Given the description of an element on the screen output the (x, y) to click on. 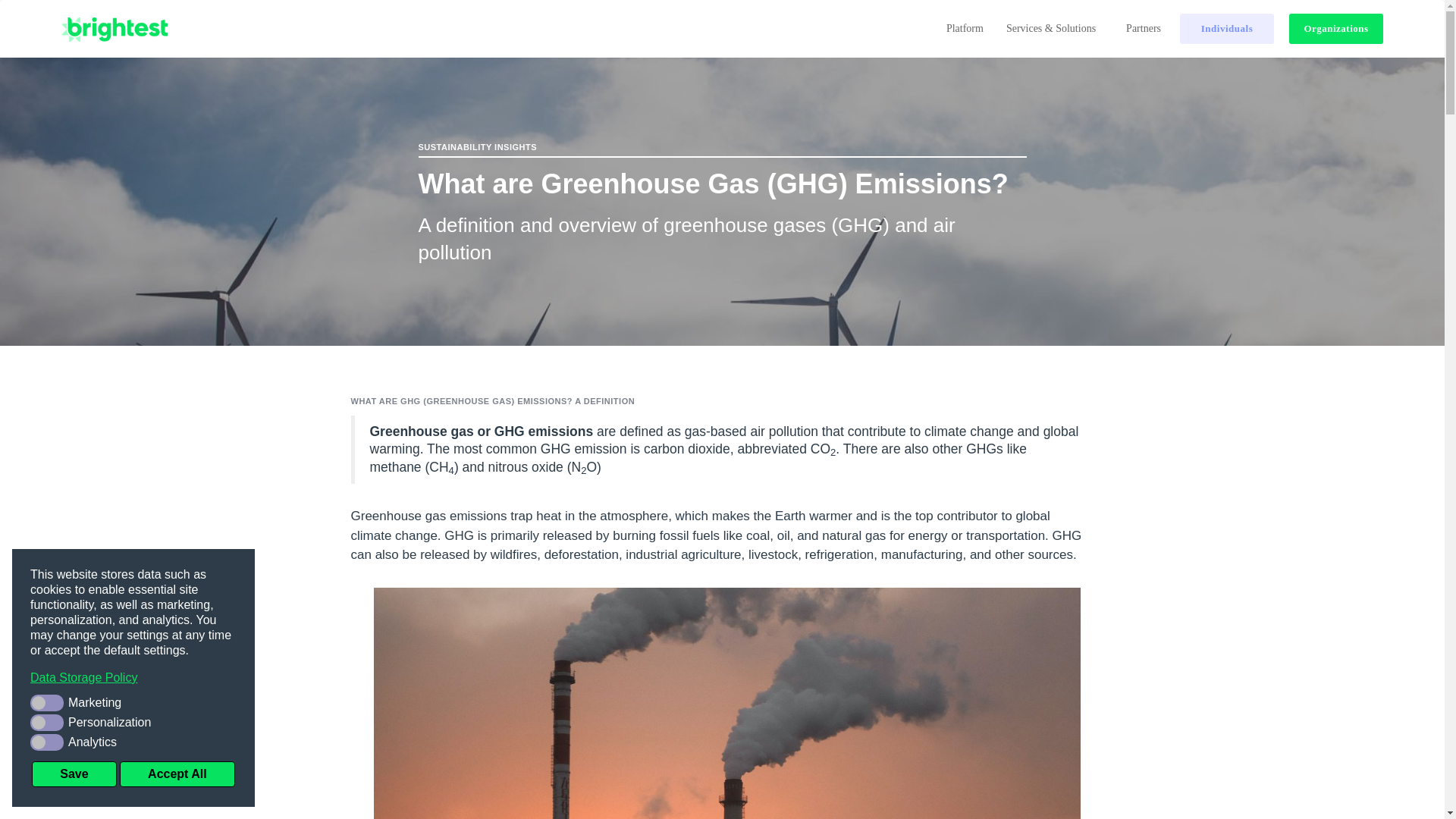
Accept All (176, 774)
Marketing (132, 702)
Partners (1143, 28)
Analytics (132, 742)
Individuals (1226, 28)
Personalization (132, 722)
Organizations (1335, 28)
climate change (968, 430)
Brightest (114, 29)
Save (74, 774)
